Given the description of an element on the screen output the (x, y) to click on. 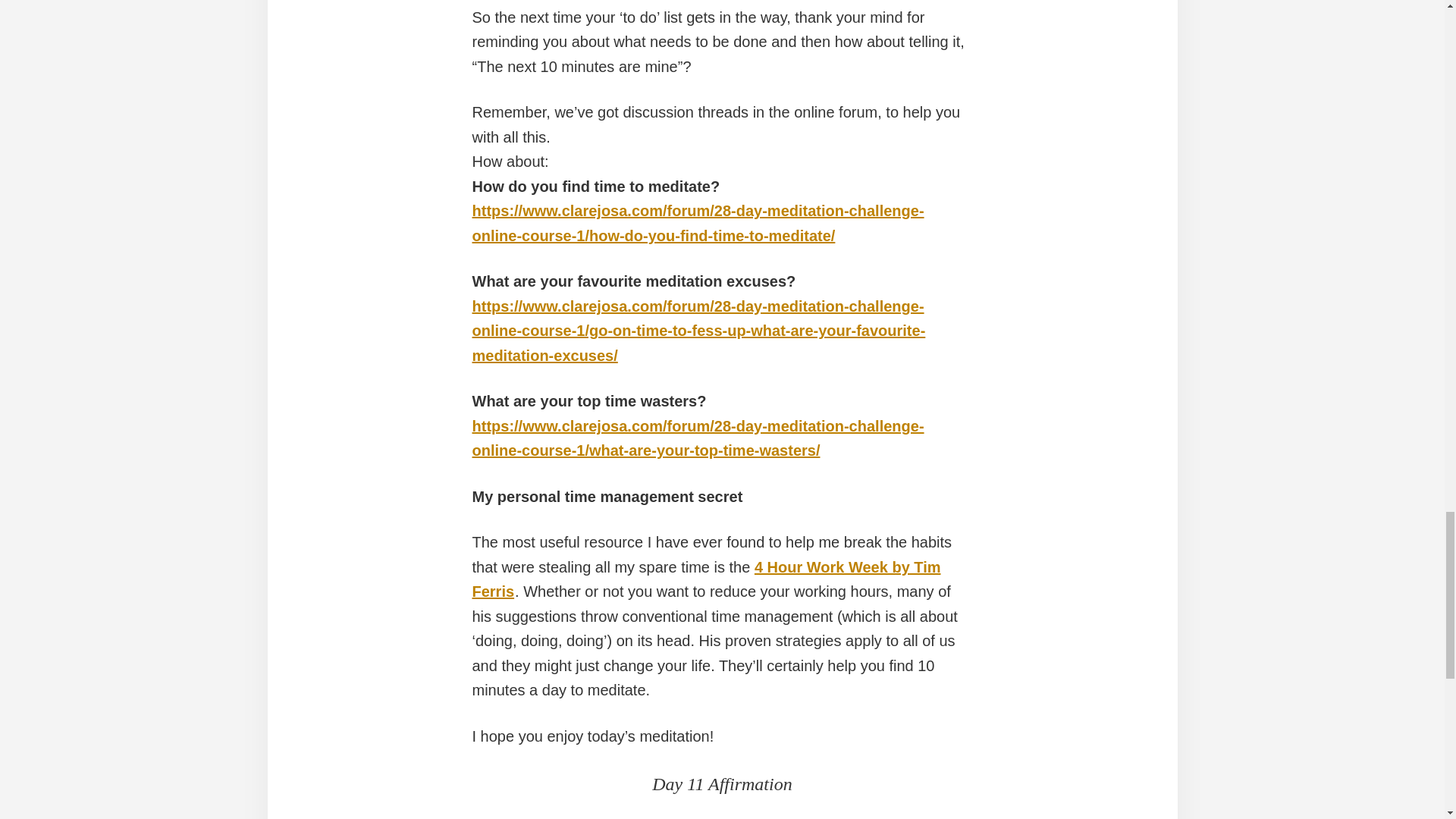
4 Hour Work Week by Tim Ferris (705, 579)
